Given the description of an element on the screen output the (x, y) to click on. 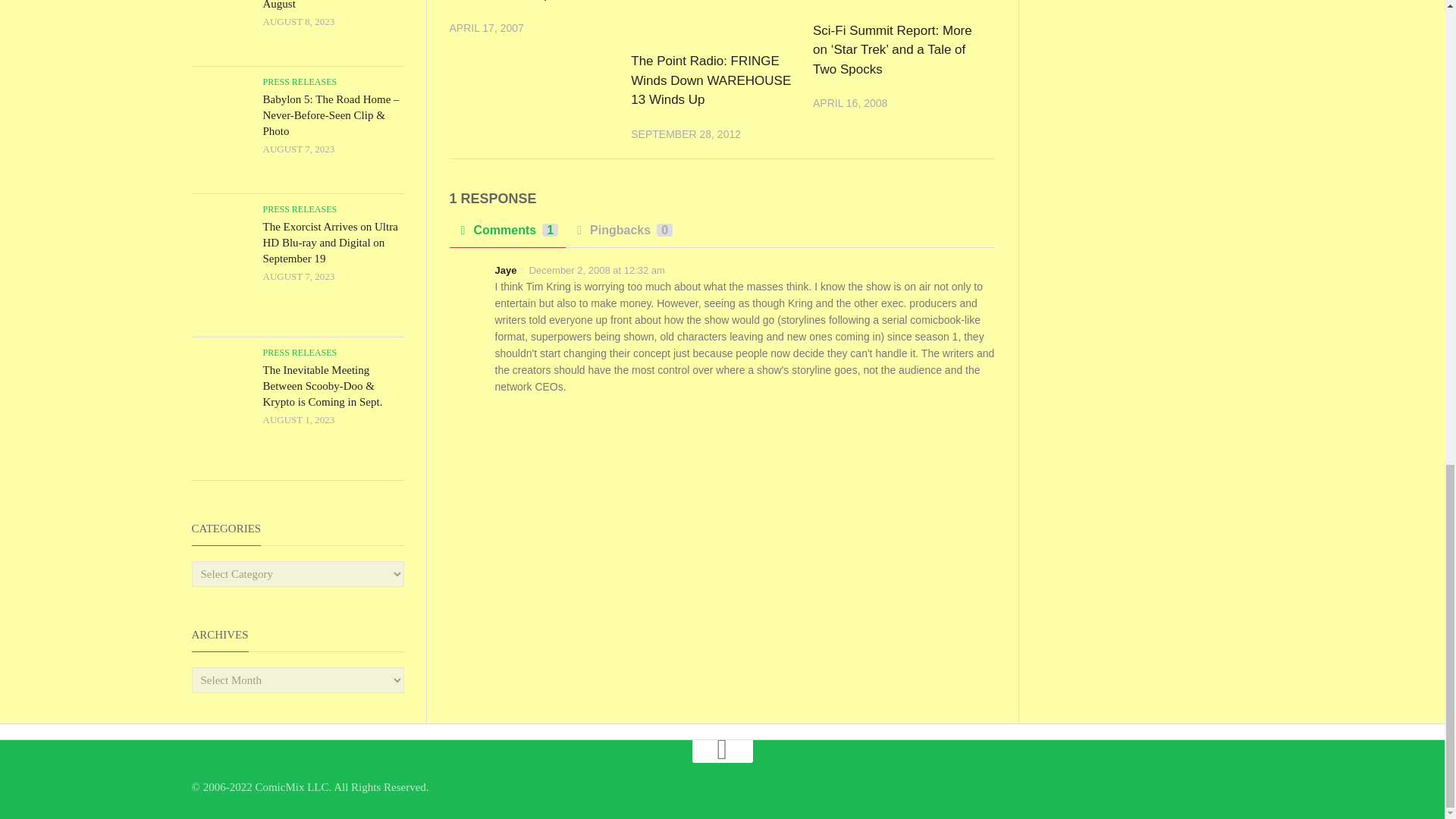
The Point Radio: FRINGE Winds Down WAREHOUSE 13 Winds Up (710, 80)
